Given the description of an element on the screen output the (x, y) to click on. 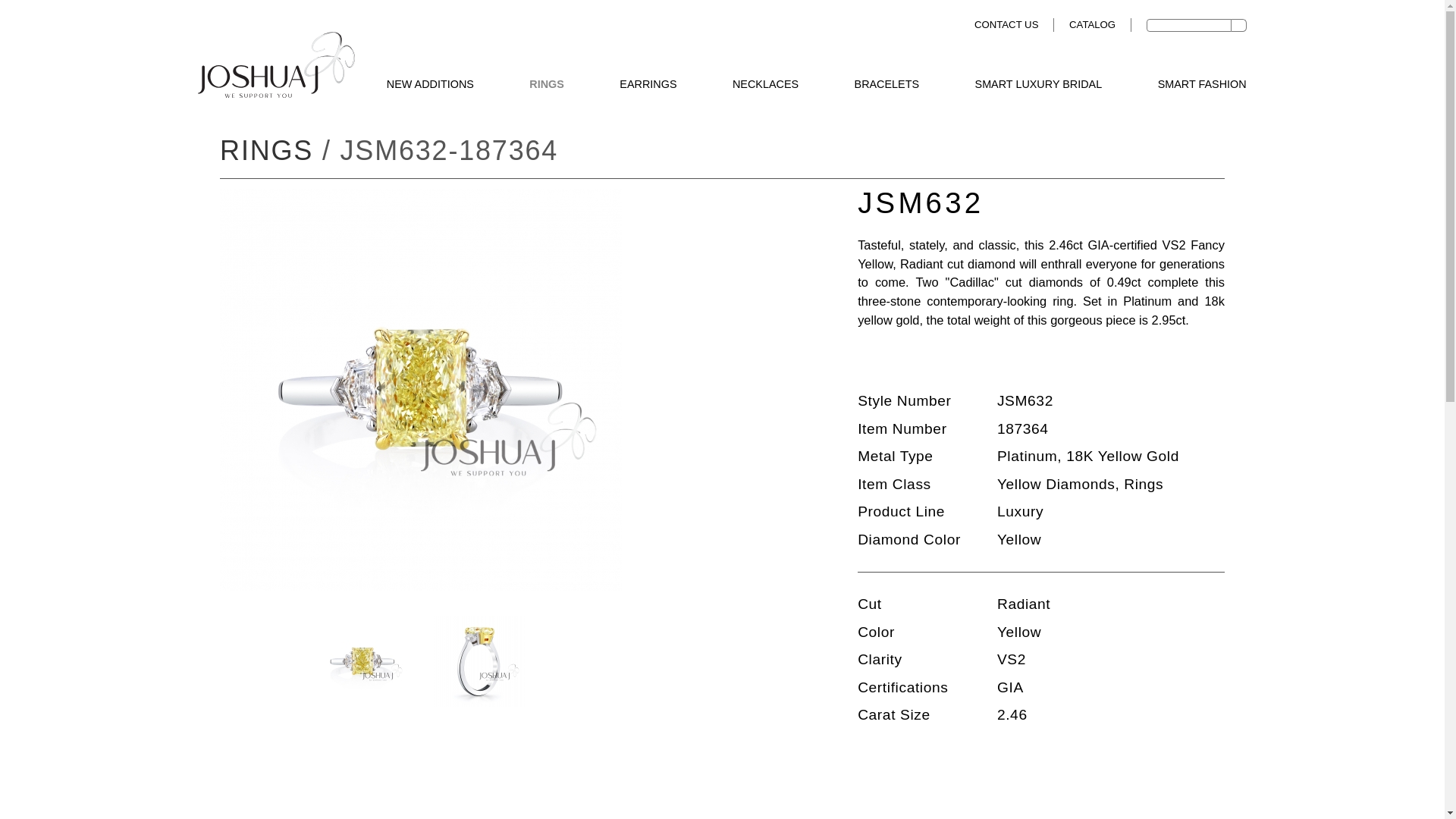
SMART LUXURY BRIDAL (1038, 85)
BRACELETS (887, 85)
NECKLACES (764, 85)
RINGS (546, 85)
EARRINGS (648, 85)
NEW ADDITIONS (430, 85)
SMART FASHION (1201, 85)
